Given the description of an element on the screen output the (x, y) to click on. 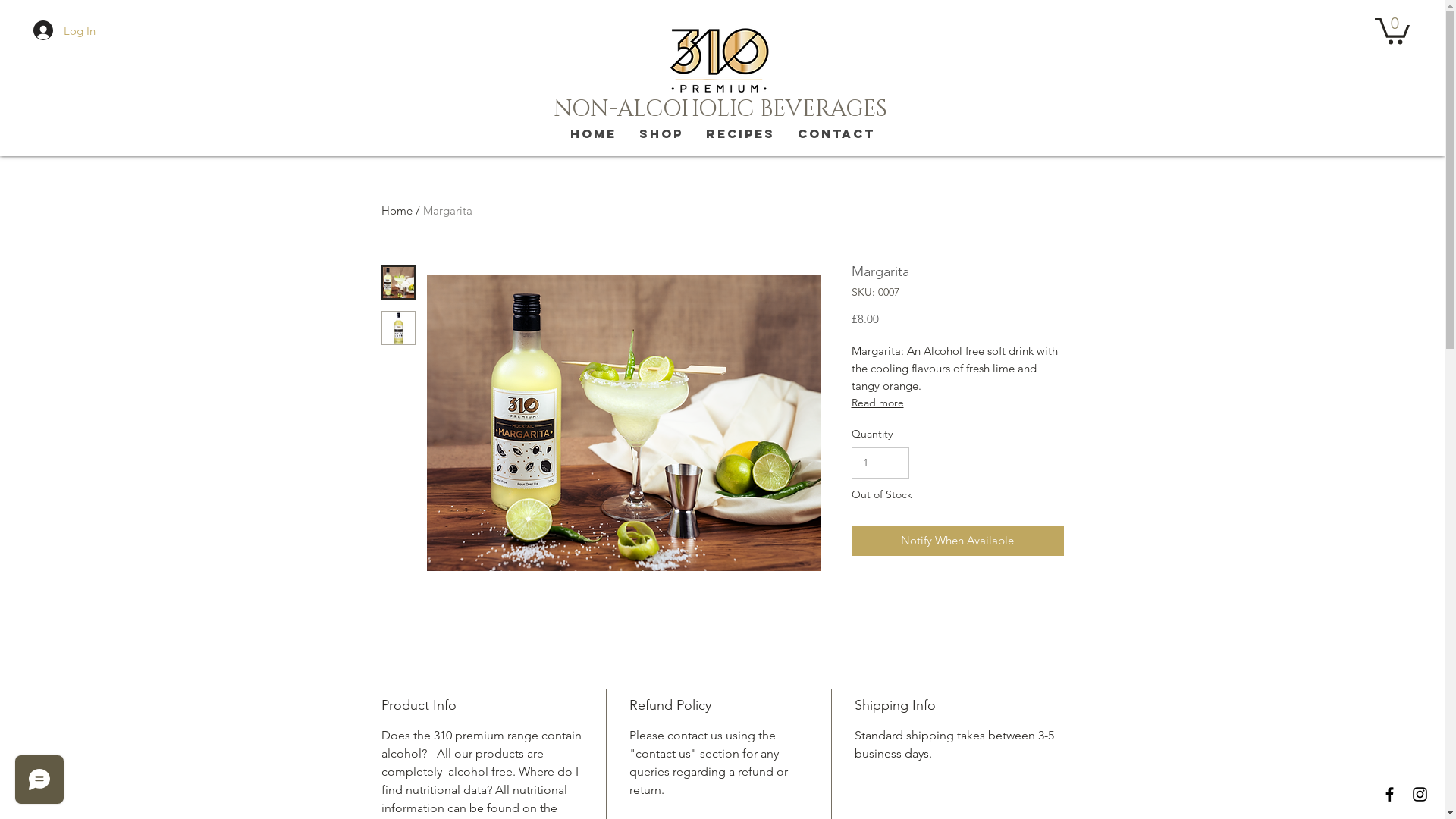
Notify When Available Element type: text (956, 540)
CONTACT Element type: text (835, 133)
Read more Element type: text (956, 402)
0 Element type: text (1391, 29)
Home Element type: text (395, 210)
RECIPES Element type: text (740, 133)
Margarita Element type: text (447, 210)
Log In Element type: text (64, 29)
HOME Element type: text (592, 133)
SHOP Element type: text (660, 133)
